Given the description of an element on the screen output the (x, y) to click on. 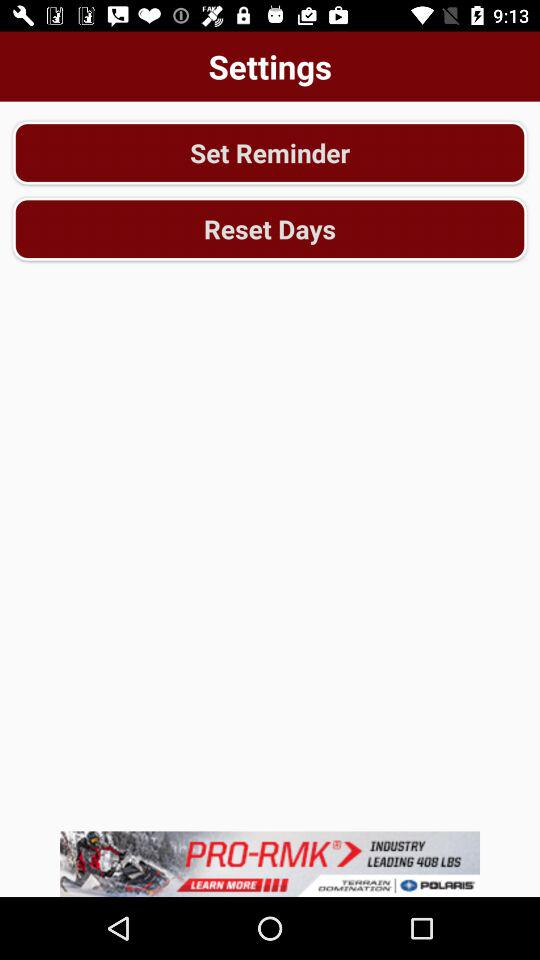
advertisement (270, 864)
